Given the description of an element on the screen output the (x, y) to click on. 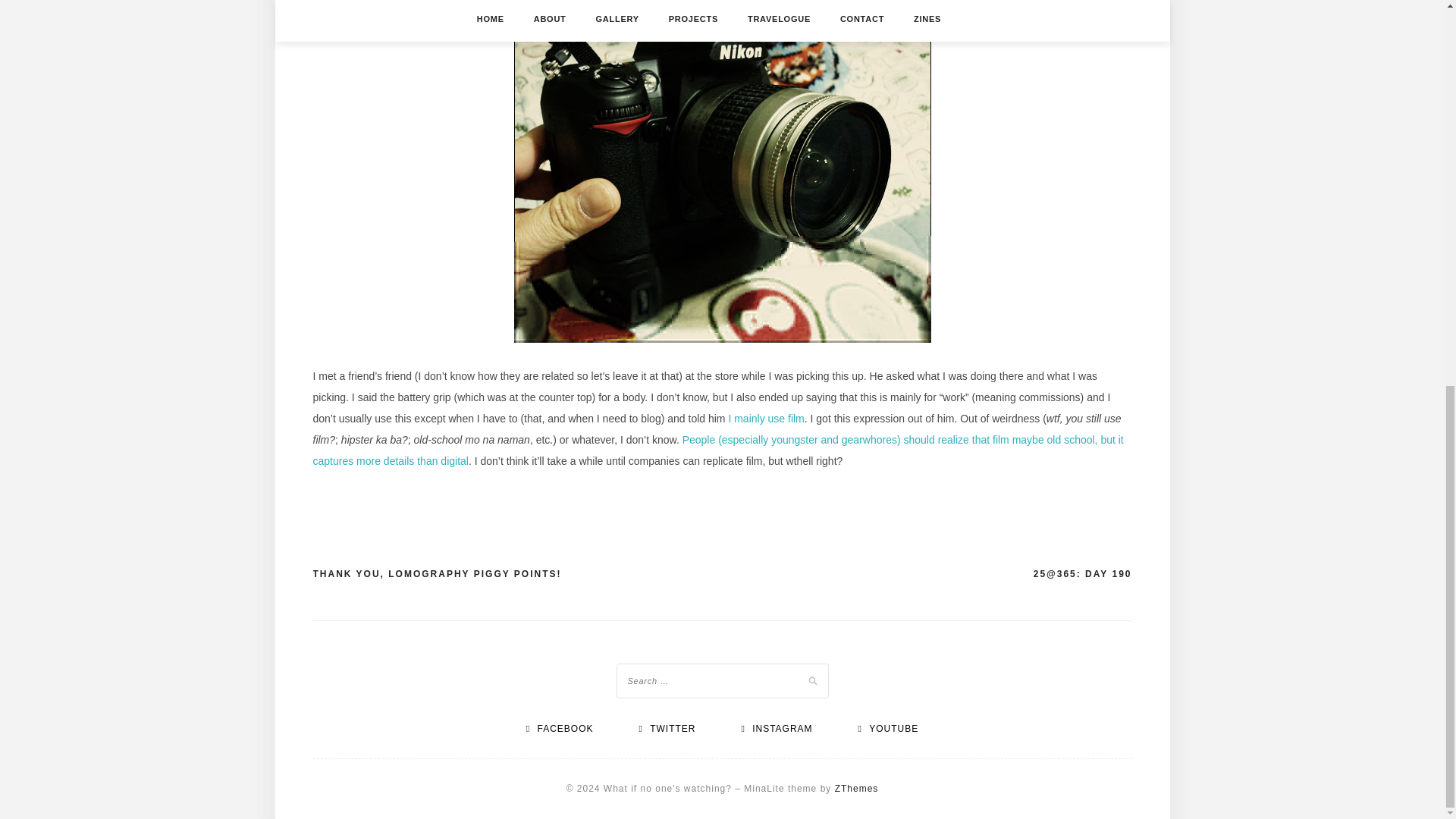
THANK YOU, LOMOGRAPHY PIGGY POINTS! (436, 574)
I mainly use film (765, 418)
TWITTER (667, 728)
FACEBOOK (559, 728)
INSTAGRAM (776, 728)
YOUTUBE (887, 728)
